Given the description of an element on the screen output the (x, y) to click on. 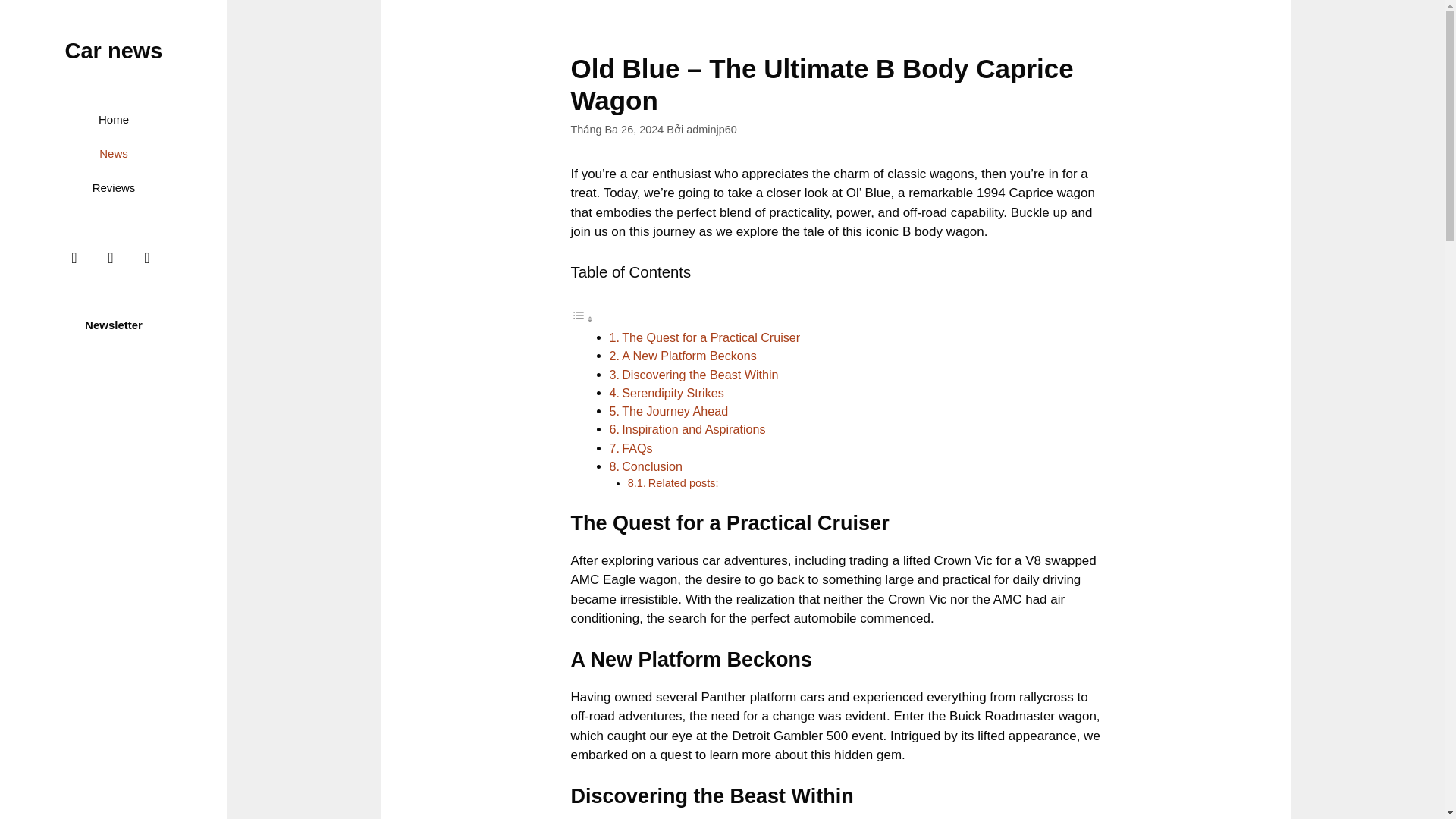
Twitter (146, 257)
Discovering the Beast Within (699, 374)
A New Platform Beckons (689, 355)
Serendipity Strikes (672, 392)
Related posts: (683, 482)
Related posts: (683, 482)
Instagram (110, 257)
The Journey Ahead (674, 410)
A New Platform Beckons (689, 355)
FAQs (636, 448)
